Given the description of an element on the screen output the (x, y) to click on. 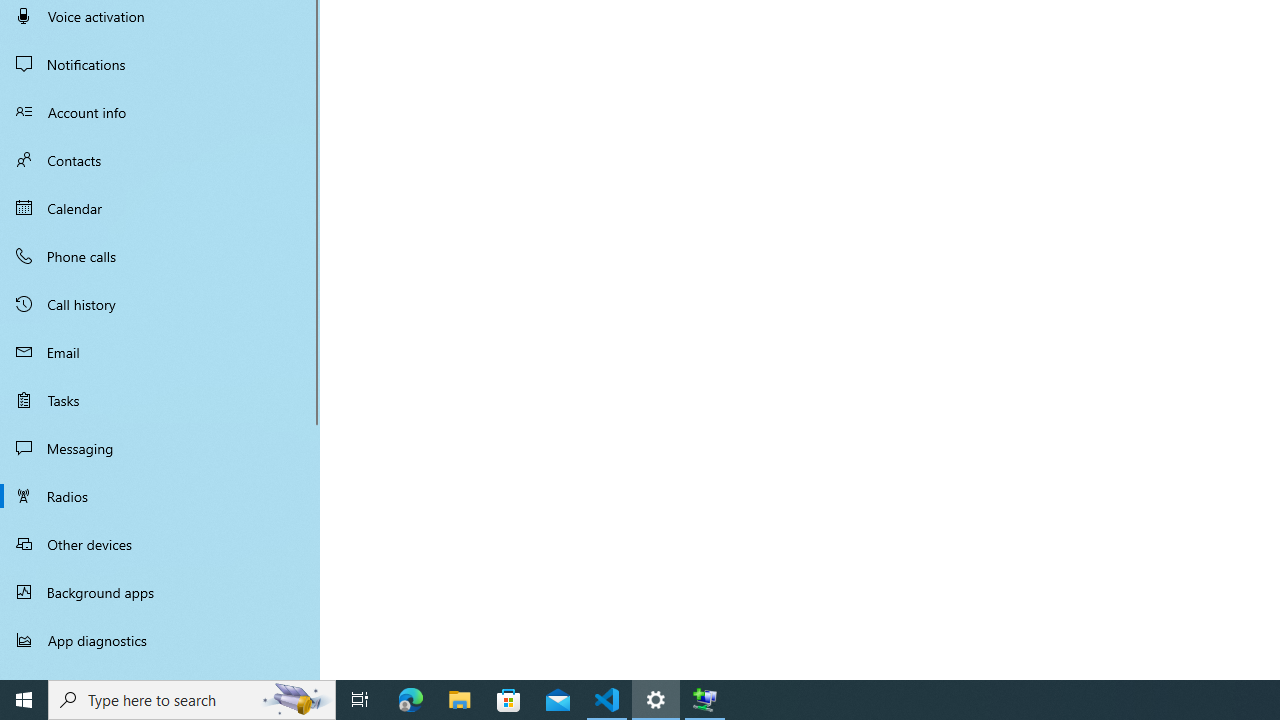
Automatic file downloads (160, 671)
Phone calls (160, 255)
Microsoft Edge (411, 699)
File Explorer (460, 699)
Visual Studio Code - 1 running window (607, 699)
App diagnostics (160, 639)
Start (24, 699)
Type here to search (191, 699)
Search highlights icon opens search home window (295, 699)
Calendar (160, 207)
